Given the description of an element on the screen output the (x, y) to click on. 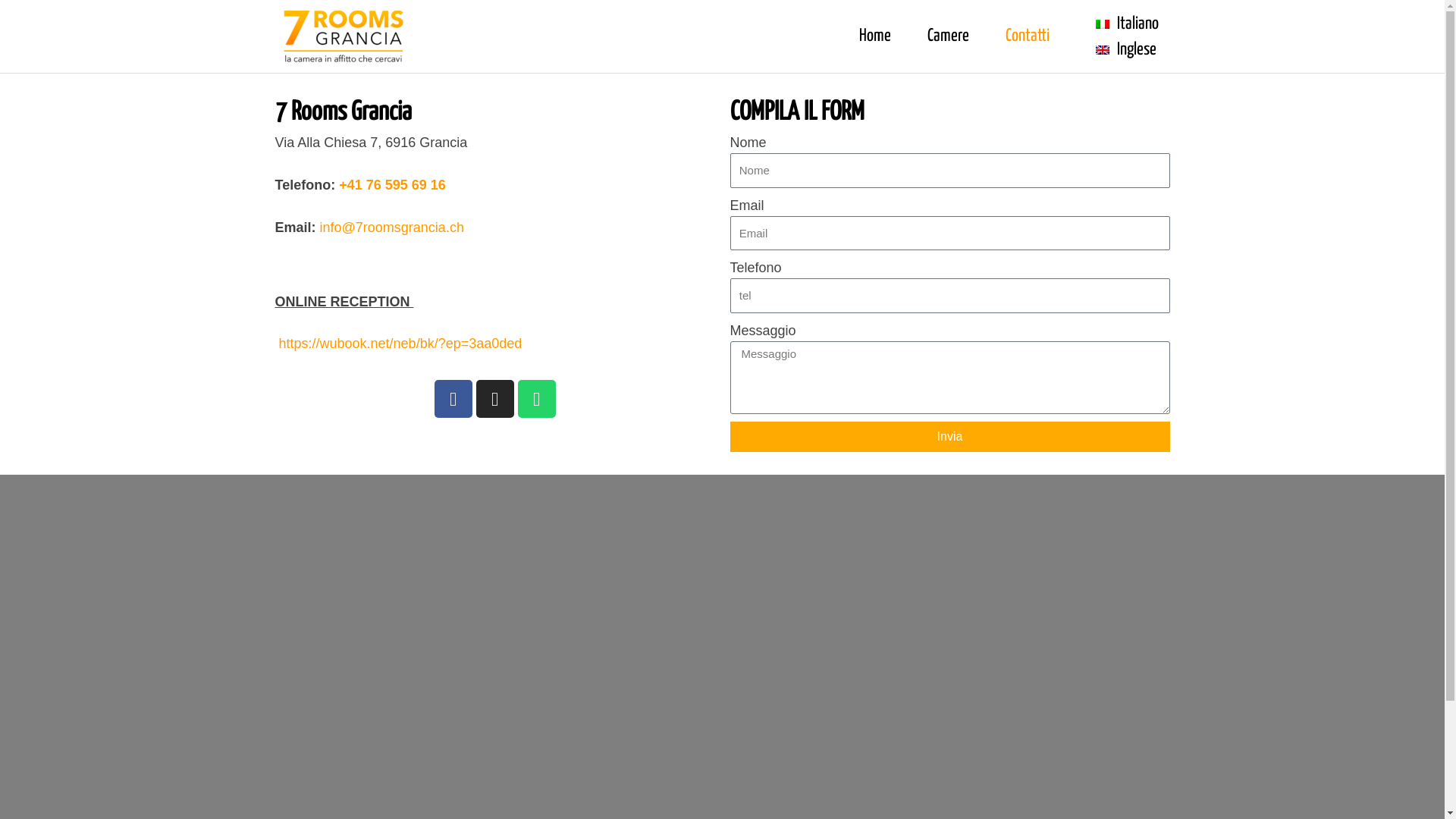
Camere Element type: text (948, 36)
Whatsapp Element type: text (536, 398)
info@7roomsgrancia.ch Element type: text (392, 227)
Invia Element type: text (949, 436)
Contatti Element type: text (1027, 36)
+41 76 595 69 16 Element type: text (391, 184)
 https://wubook.net/neb/bk/?ep=3aa0ded Element type: text (397, 343)
Instagram Element type: text (495, 398)
Home Element type: text (874, 36)
Inglese Element type: text (1126, 49)
Facebook Element type: text (452, 398)
Italiano Element type: text (1126, 23)
